Given the description of an element on the screen output the (x, y) to click on. 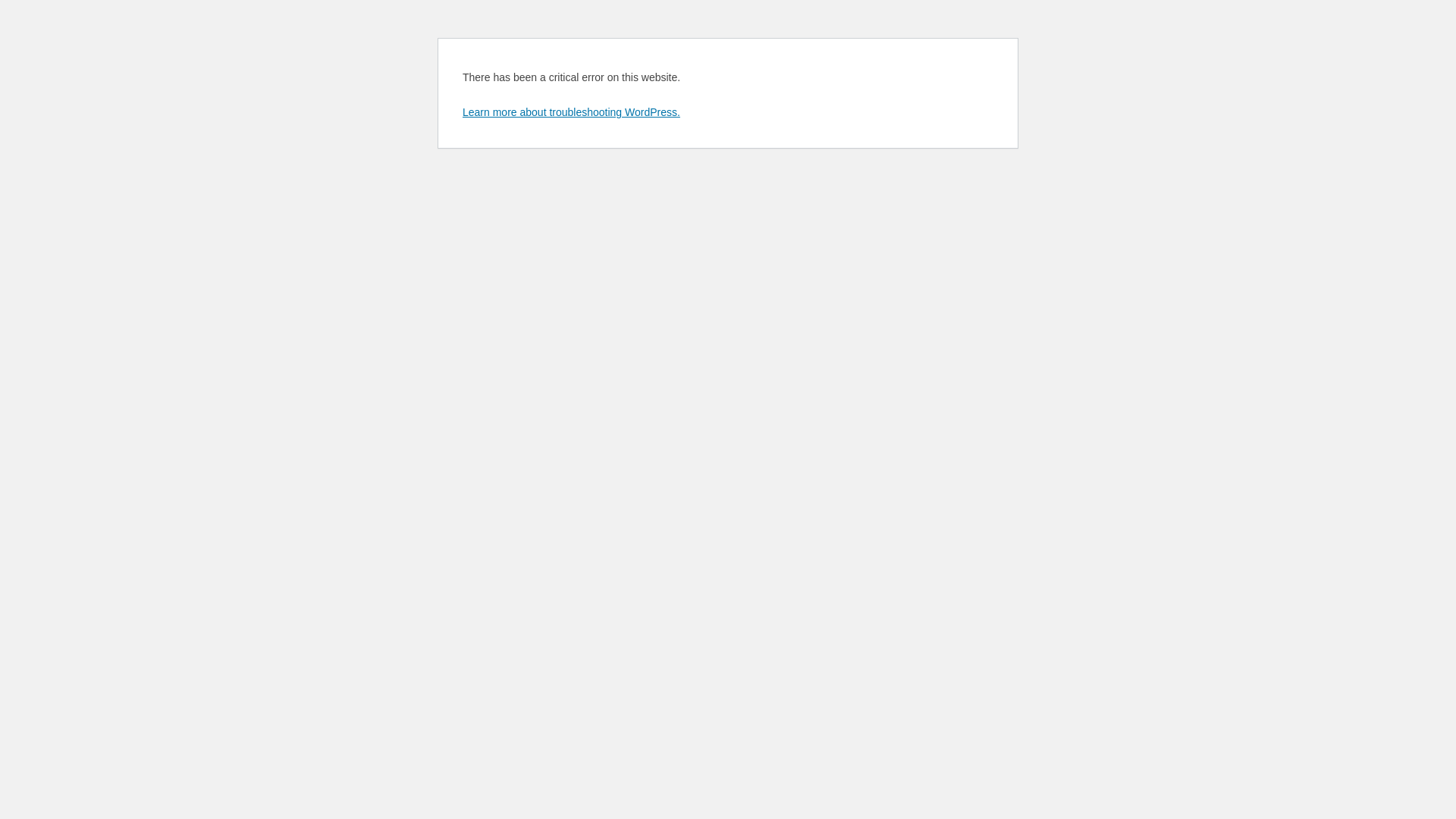
Learn more about troubleshooting WordPress. Element type: text (571, 112)
